Given the description of an element on the screen output the (x, y) to click on. 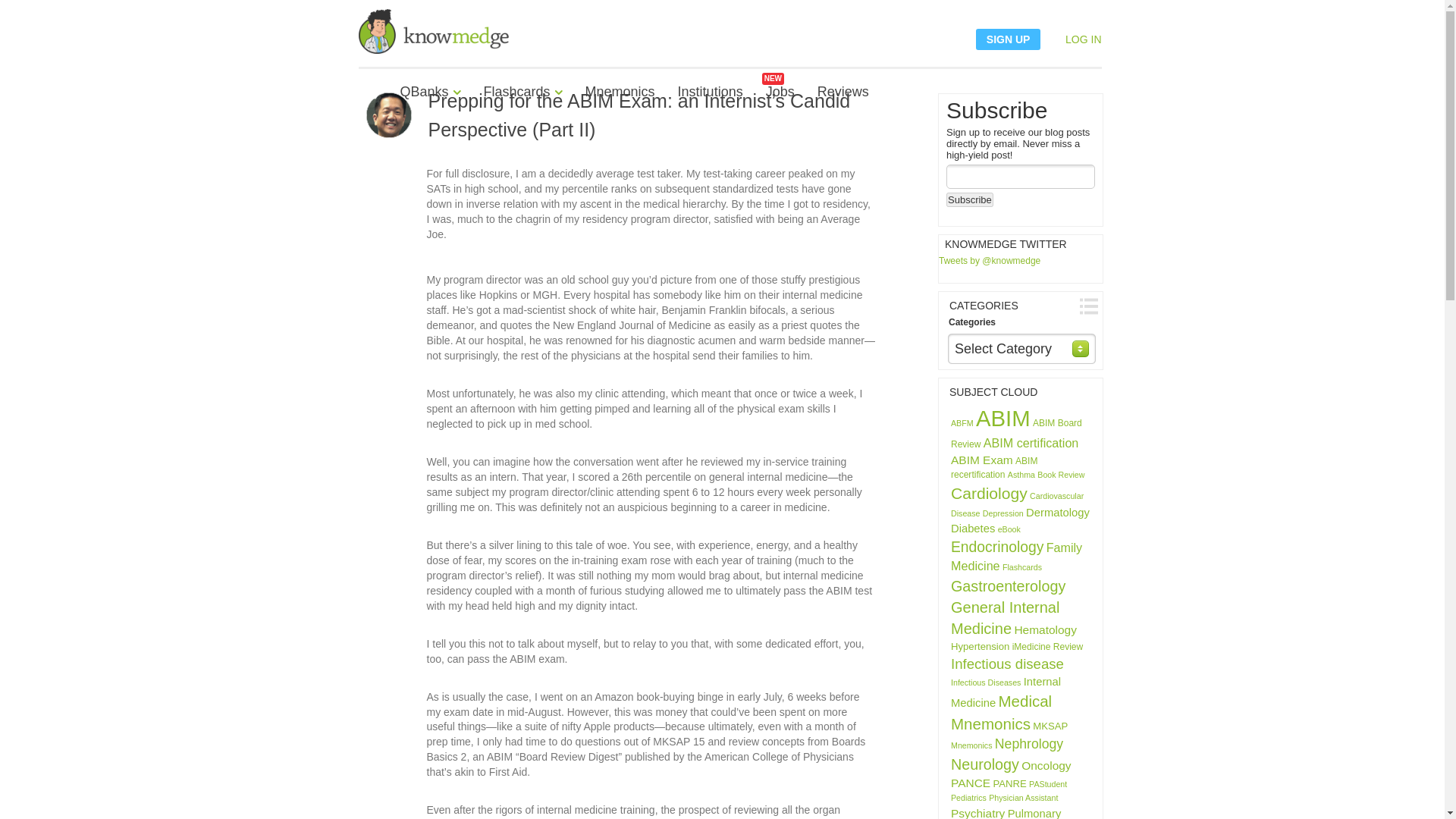
ABIM certification (1031, 442)
ABIM Exam (981, 459)
ABIM recertification (993, 467)
ABIM (1002, 417)
ABFM (962, 422)
Jobs (780, 102)
QBanks (430, 102)
Asthma (1021, 474)
Subscribe (969, 199)
SIGN UP (1008, 38)
Subscribe (969, 199)
Flashcards (523, 102)
Reviews (842, 102)
Institutions (710, 102)
ABIM Board Review (1015, 433)
